Given the description of an element on the screen output the (x, y) to click on. 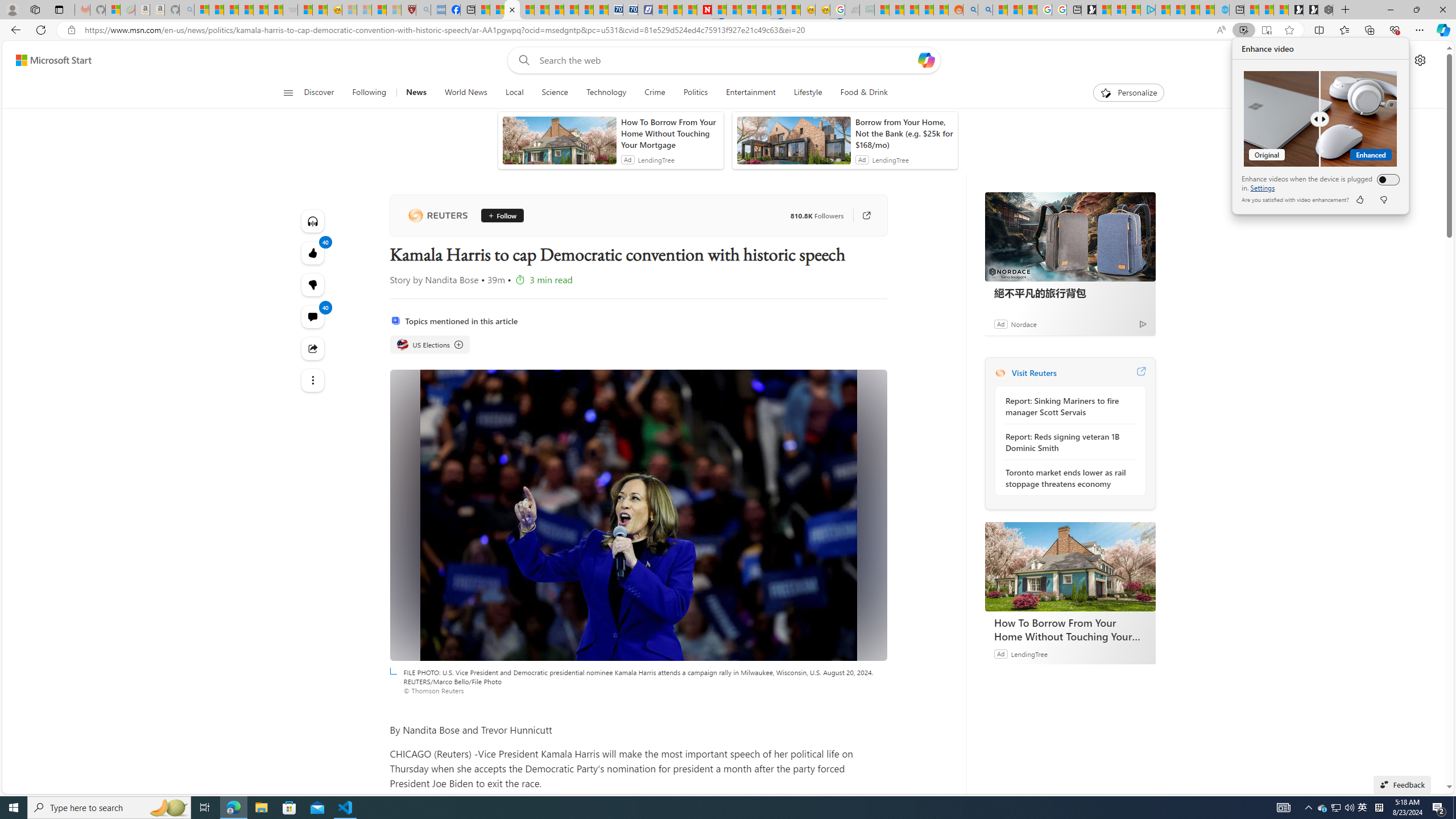
Like (1359, 199)
